Given the description of an element on the screen output the (x, y) to click on. 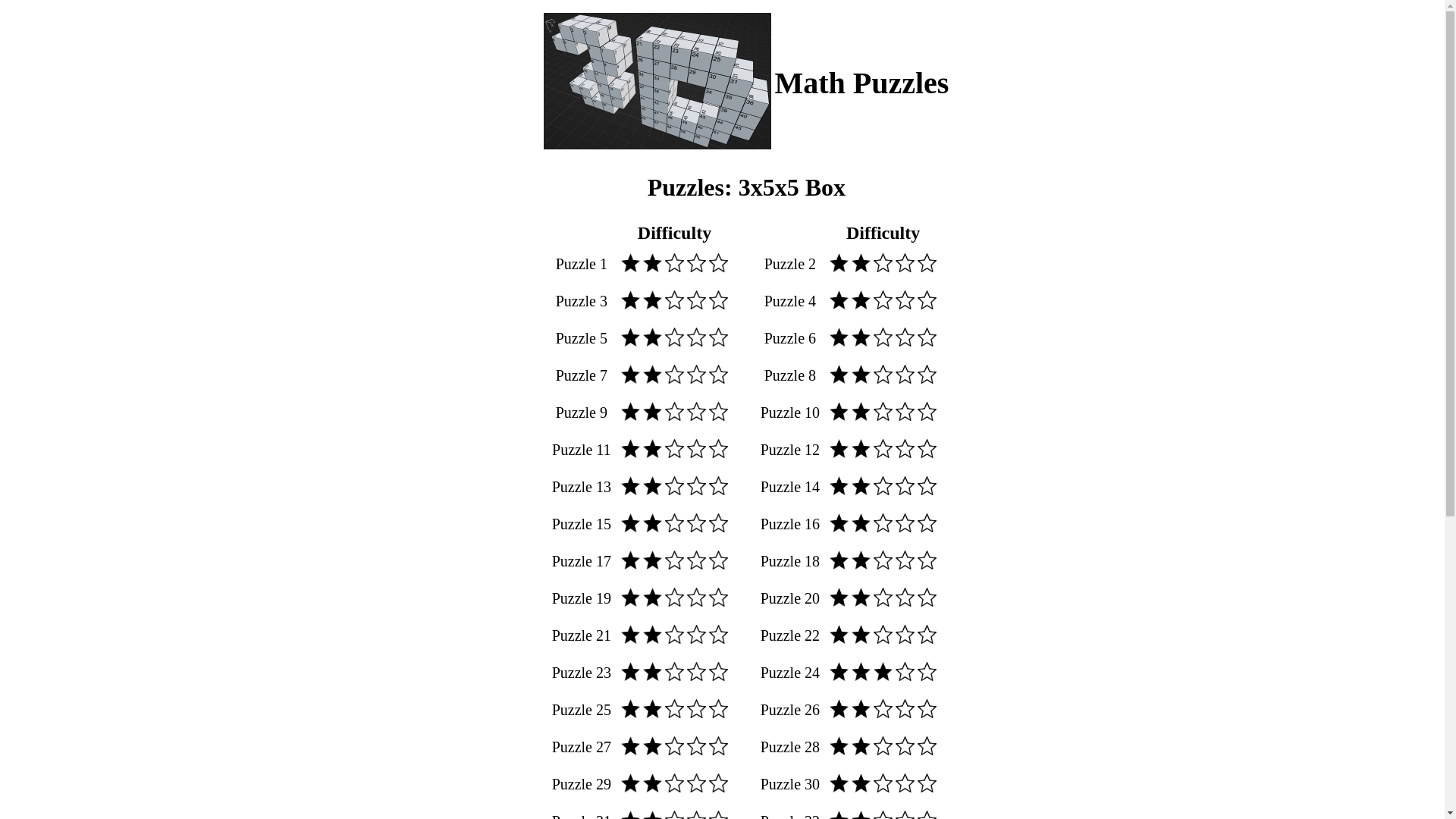
Puzzle 19 Element type: text (581, 597)
Puzzle 29 Element type: text (581, 783)
Puzzle 12 Element type: text (789, 449)
Puzzle 15 Element type: text (581, 523)
Puzzle 27 Element type: text (581, 746)
Puzzle 13 Element type: text (581, 486)
Puzzle 21 Element type: text (581, 635)
Puzzle 2 Element type: text (789, 263)
Puzzle 4 Element type: text (789, 300)
Puzzle 17 Element type: text (581, 560)
Math Puzzles Element type: text (861, 82)
Puzzle 18 Element type: text (789, 560)
Puzzle 16 Element type: text (789, 523)
Puzzle 8 Element type: text (789, 375)
Puzzle 25 Element type: text (581, 709)
Puzzle 7 Element type: text (581, 375)
Puzzle 22 Element type: text (789, 635)
Puzzle 28 Element type: text (789, 746)
Puzzle 20 Element type: text (789, 597)
Puzzle 10 Element type: text (789, 412)
Puzzle 23 Element type: text (581, 672)
Puzzle 9 Element type: text (581, 412)
Puzzle 30 Element type: text (789, 783)
Puzzle 14 Element type: text (789, 486)
Puzzle 5 Element type: text (581, 337)
Puzzle 11 Element type: text (581, 449)
Puzzle 3 Element type: text (581, 300)
Puzzle 26 Element type: text (789, 709)
Puzzle 6 Element type: text (789, 337)
Puzzle 1 Element type: text (581, 263)
Puzzle 24 Element type: text (789, 672)
